Given the description of an element on the screen output the (x, y) to click on. 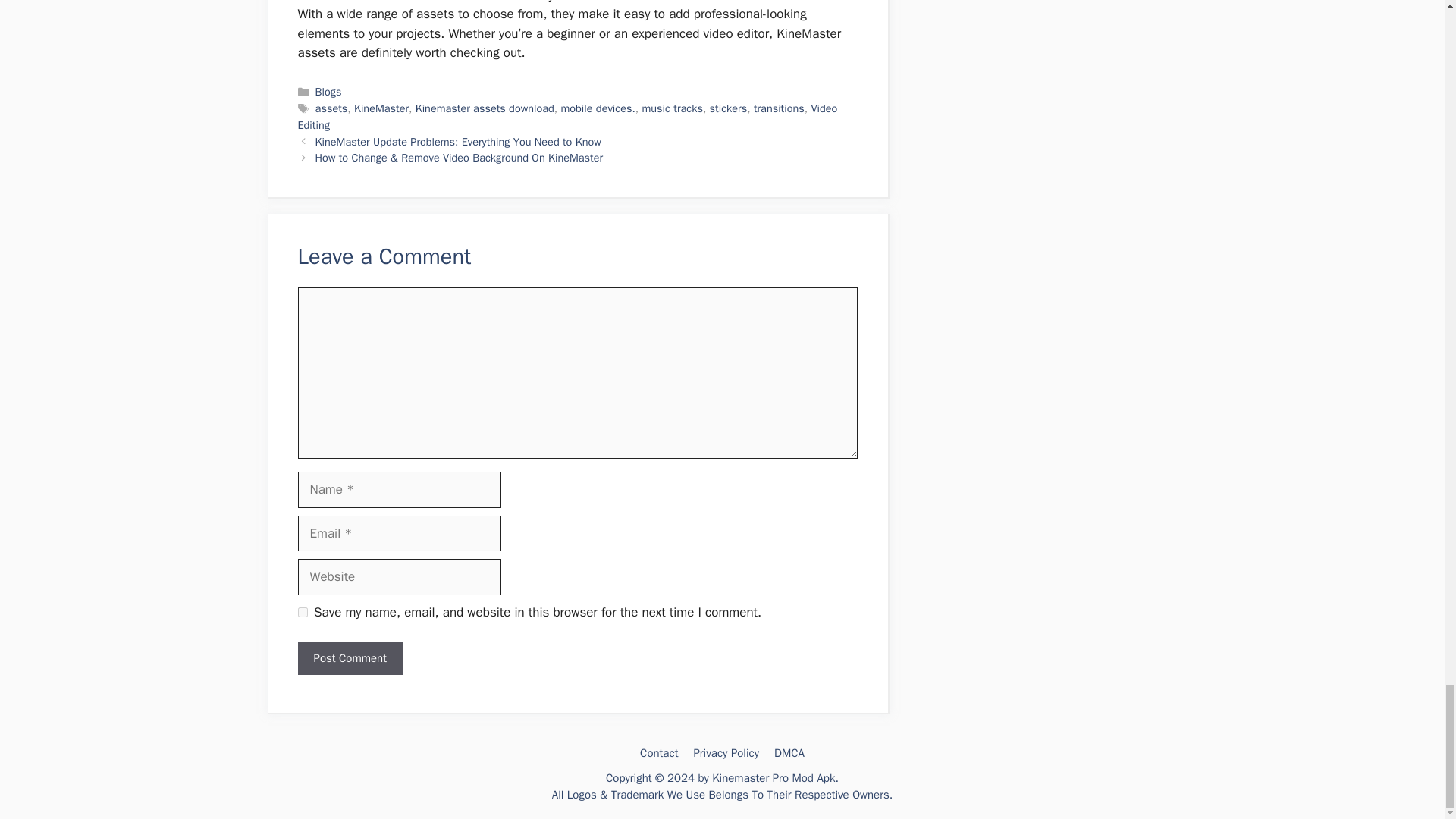
Post Comment (349, 658)
assets (331, 108)
Blogs (328, 91)
yes (302, 612)
